Given the description of an element on the screen output the (x, y) to click on. 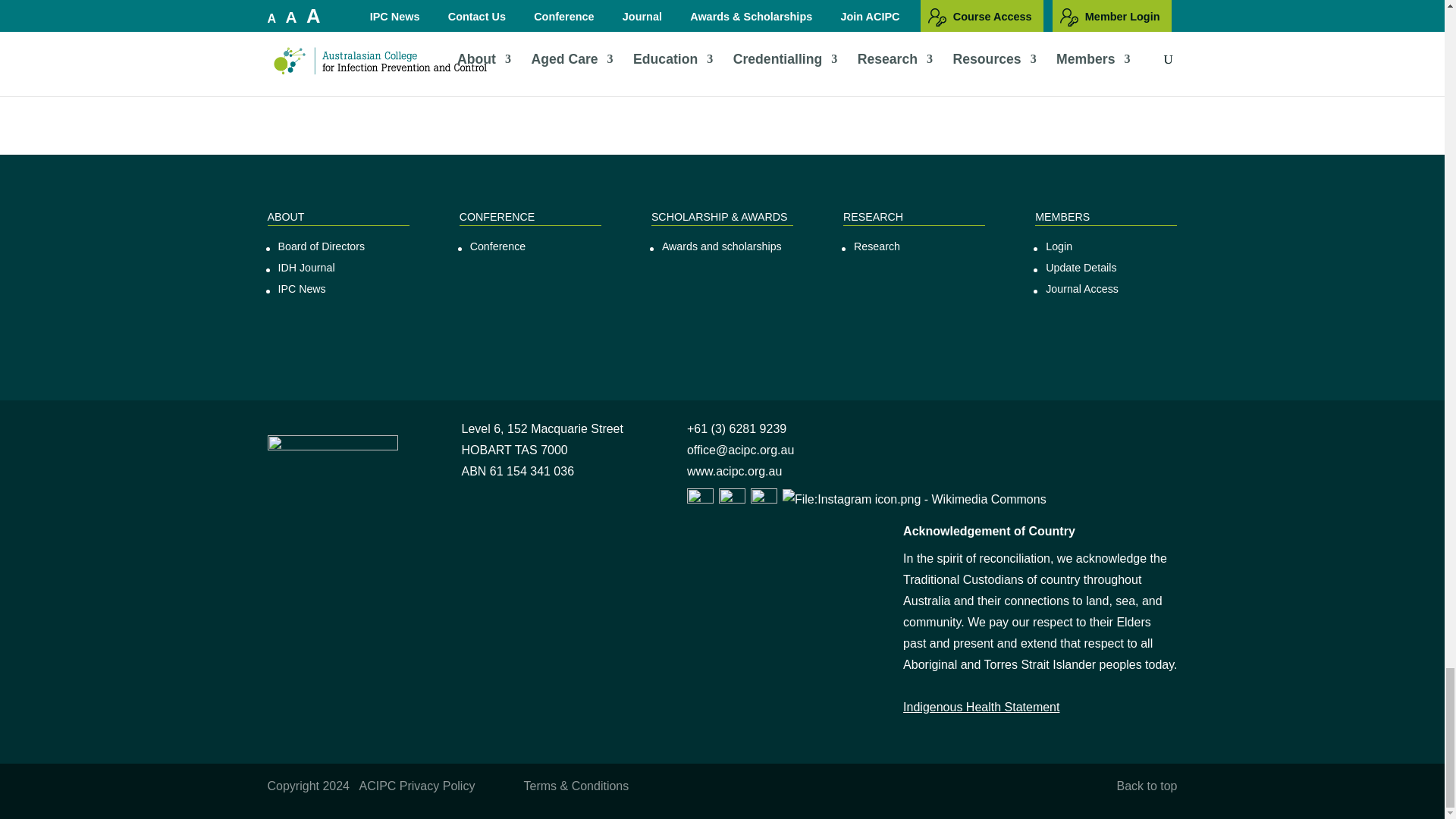
Search (448, 50)
